Given the description of an element on the screen output the (x, y) to click on. 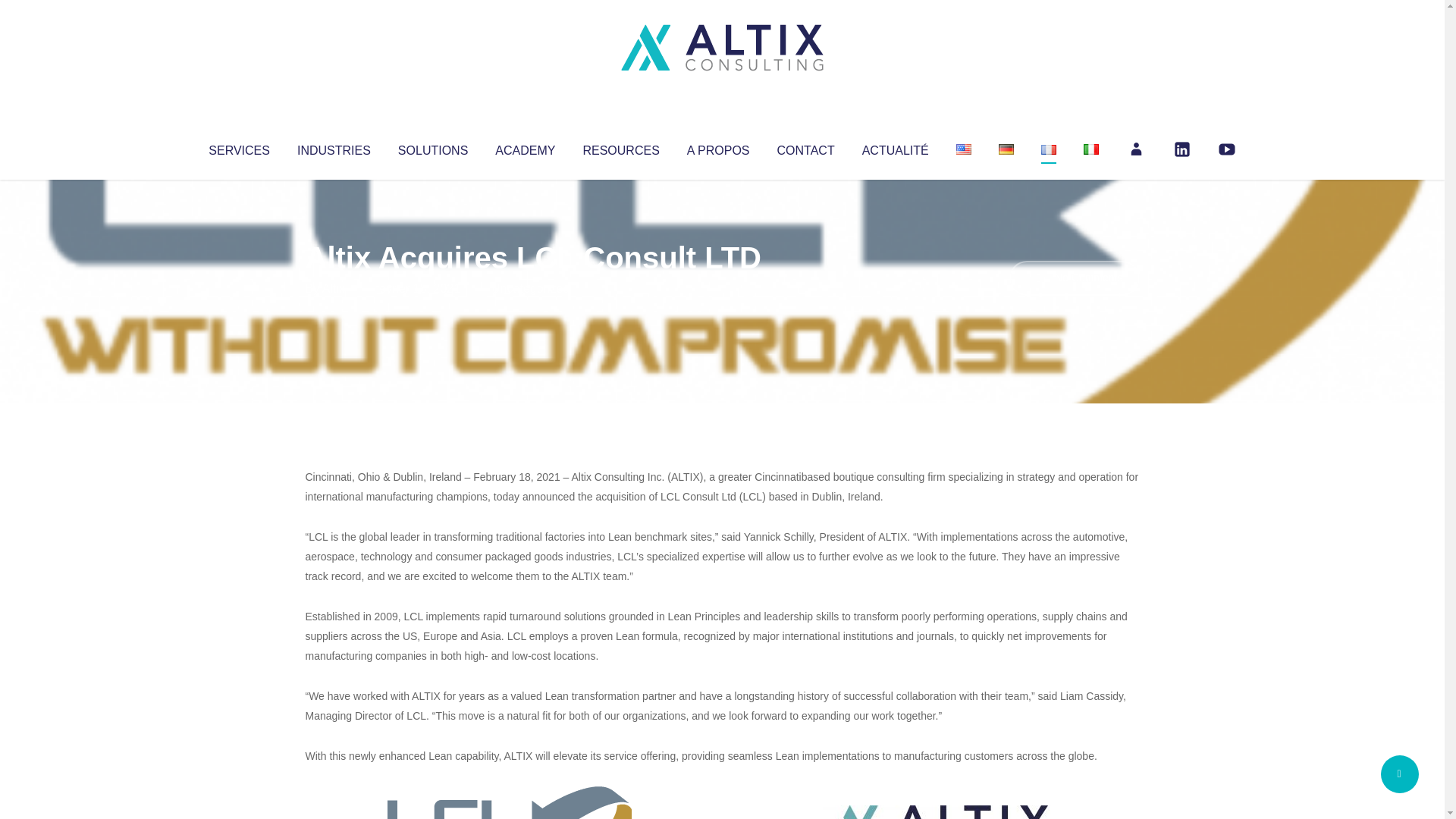
INDUSTRIES (334, 146)
SOLUTIONS (432, 146)
Uncategorized (530, 287)
ACADEMY (524, 146)
Altix (333, 287)
No Comments (1073, 278)
SERVICES (238, 146)
A PROPOS (718, 146)
Articles par Altix (333, 287)
RESOURCES (620, 146)
